Given the description of an element on the screen output the (x, y) to click on. 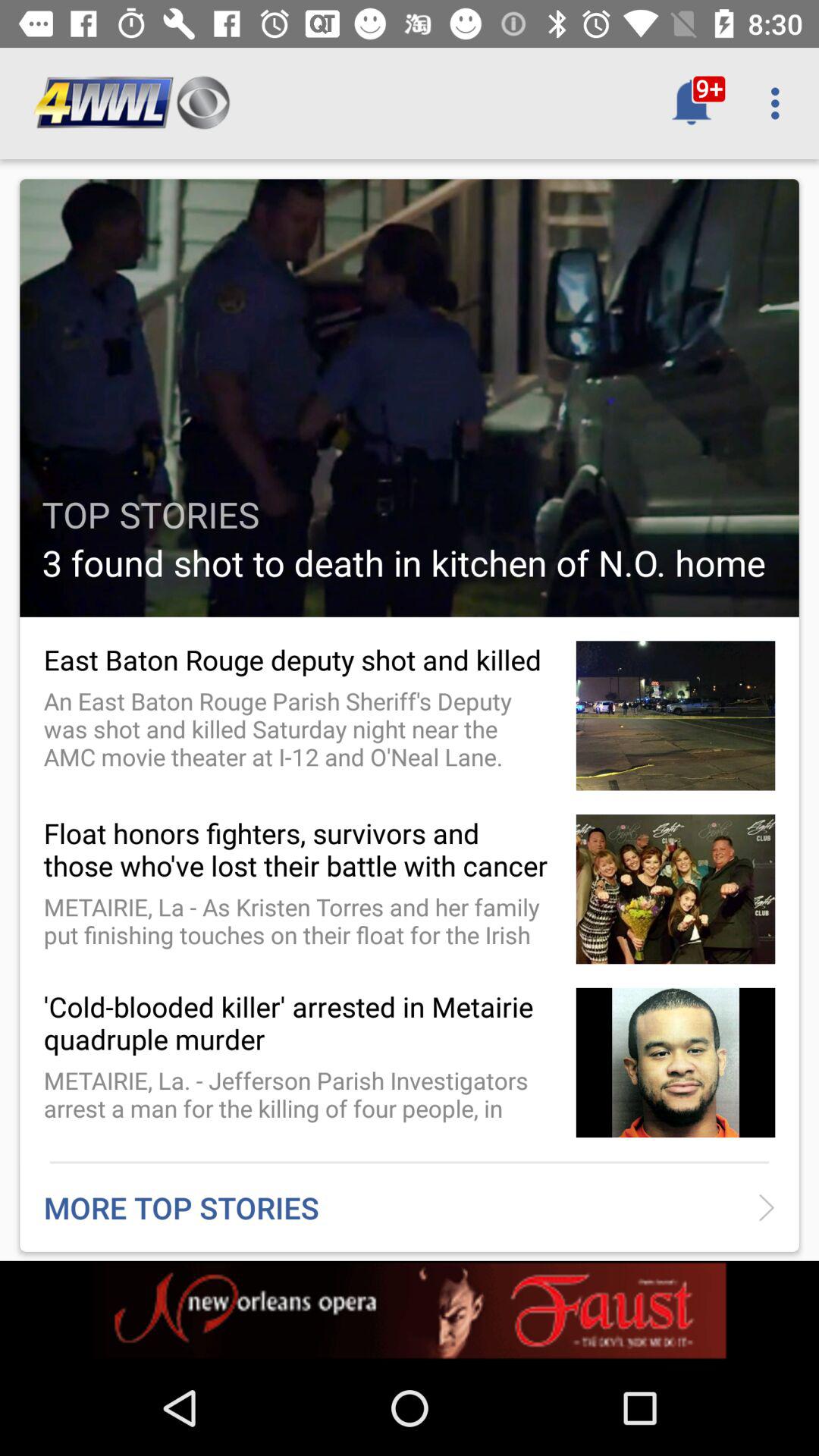
select the item below more top stories item (409, 1310)
